Given the description of an element on the screen output the (x, y) to click on. 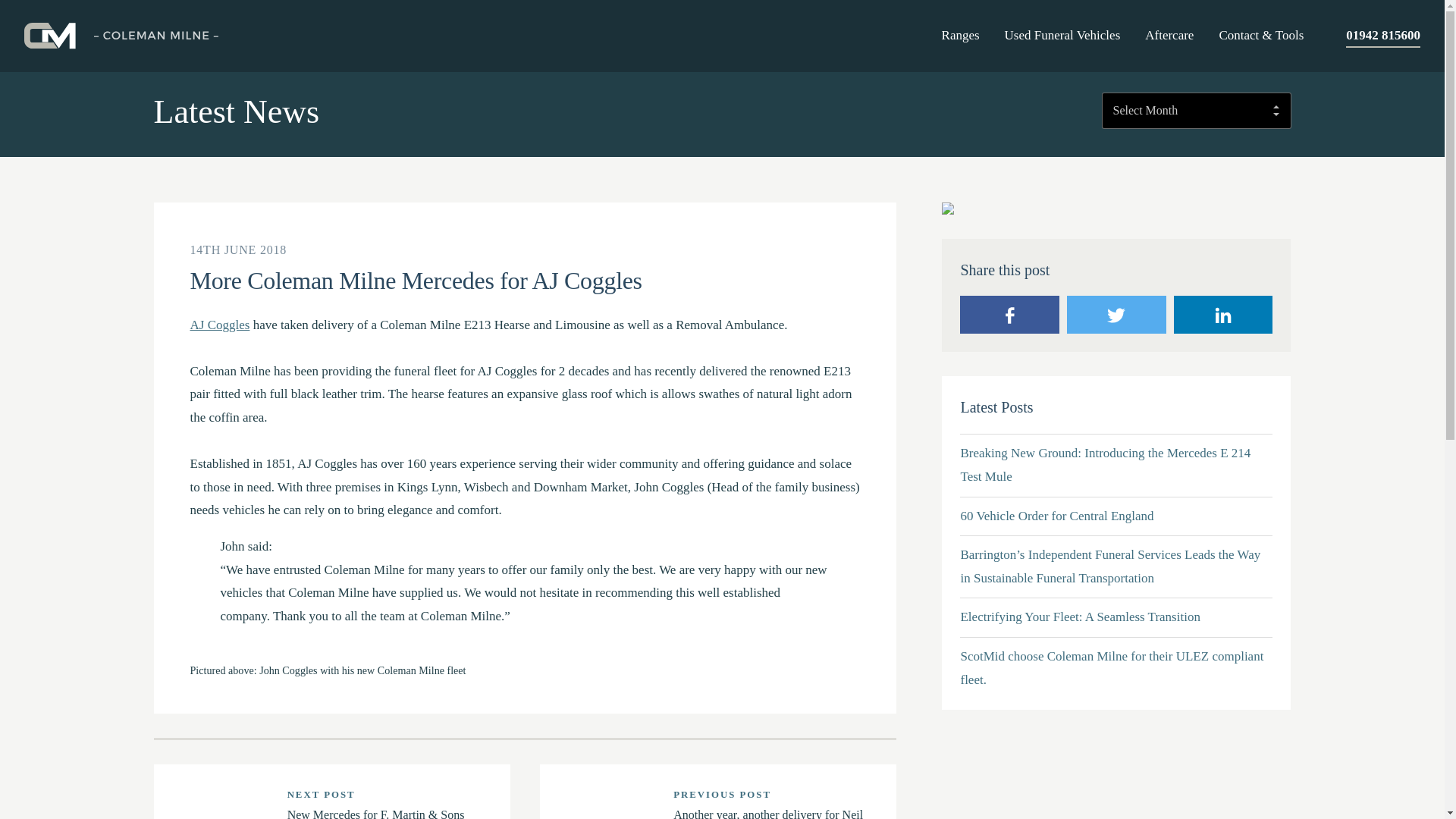
PREVIOUS POST (721, 794)
ScotMid choose Coleman Milne for their ULEZ compliant fleet. (1115, 668)
ScotMid choose Coleman Milne for their ULEZ compliant fleet. (1115, 668)
Electrifying Your Fleet: A Seamless Transition (1115, 617)
Aftercare (1168, 36)
AJ Coggles (218, 324)
Used Funeral Vehicles (1062, 36)
01942 815600 (1383, 37)
Another year, another delivery for Neil Middlehurst. (767, 813)
NEXT POST (320, 794)
60 Vehicle Order for Central England (1115, 516)
Electrifying Your Fleet: A Seamless Transition (1115, 617)
60 Vehicle Order for Central England (1115, 516)
